Given the description of an element on the screen output the (x, y) to click on. 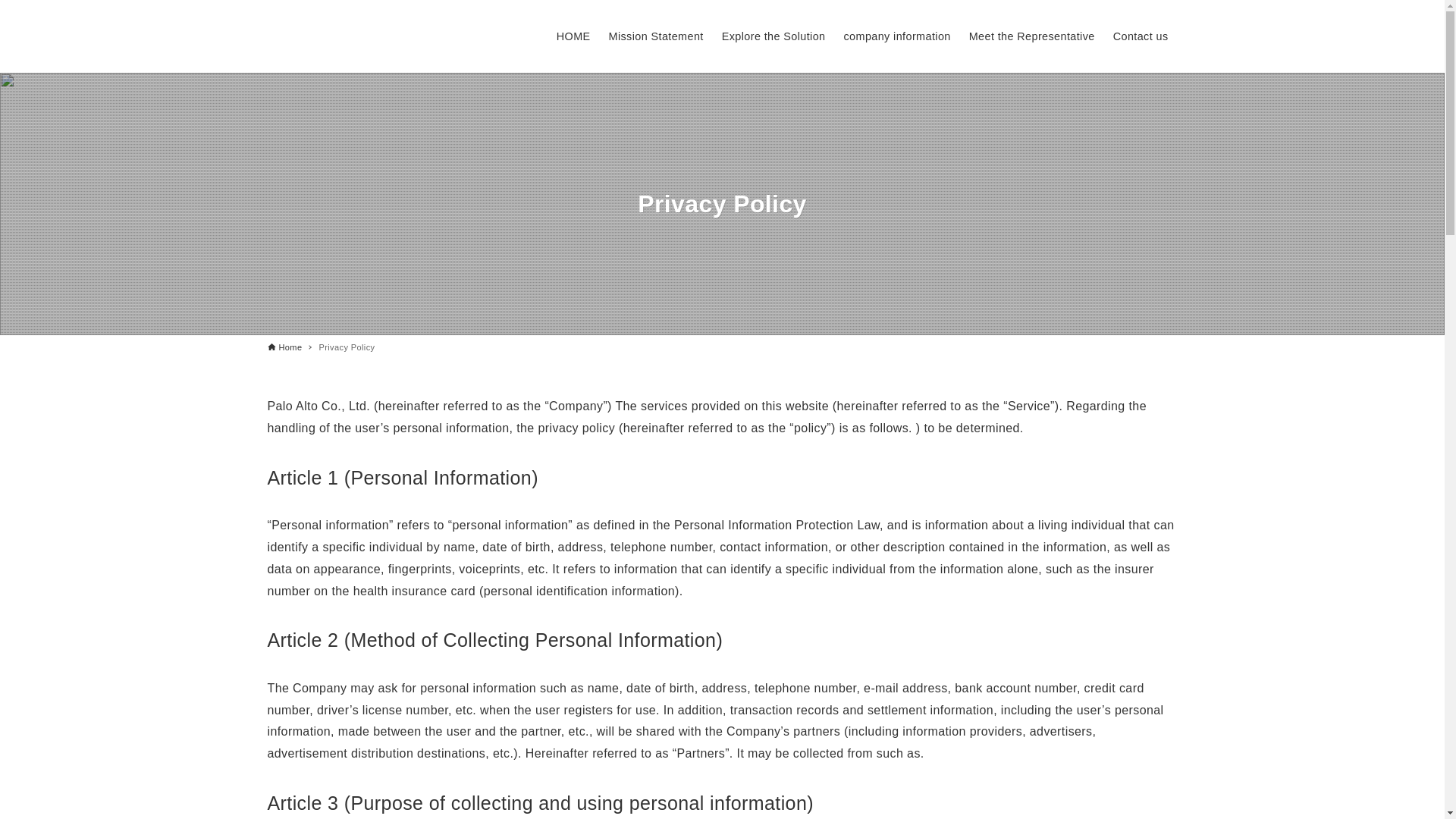
company information (896, 36)
Mission Statement (656, 36)
Home (283, 347)
Meet the Representative (1031, 36)
Explore the Solution (773, 36)
Contact us (1140, 36)
